Given the description of an element on the screen output the (x, y) to click on. 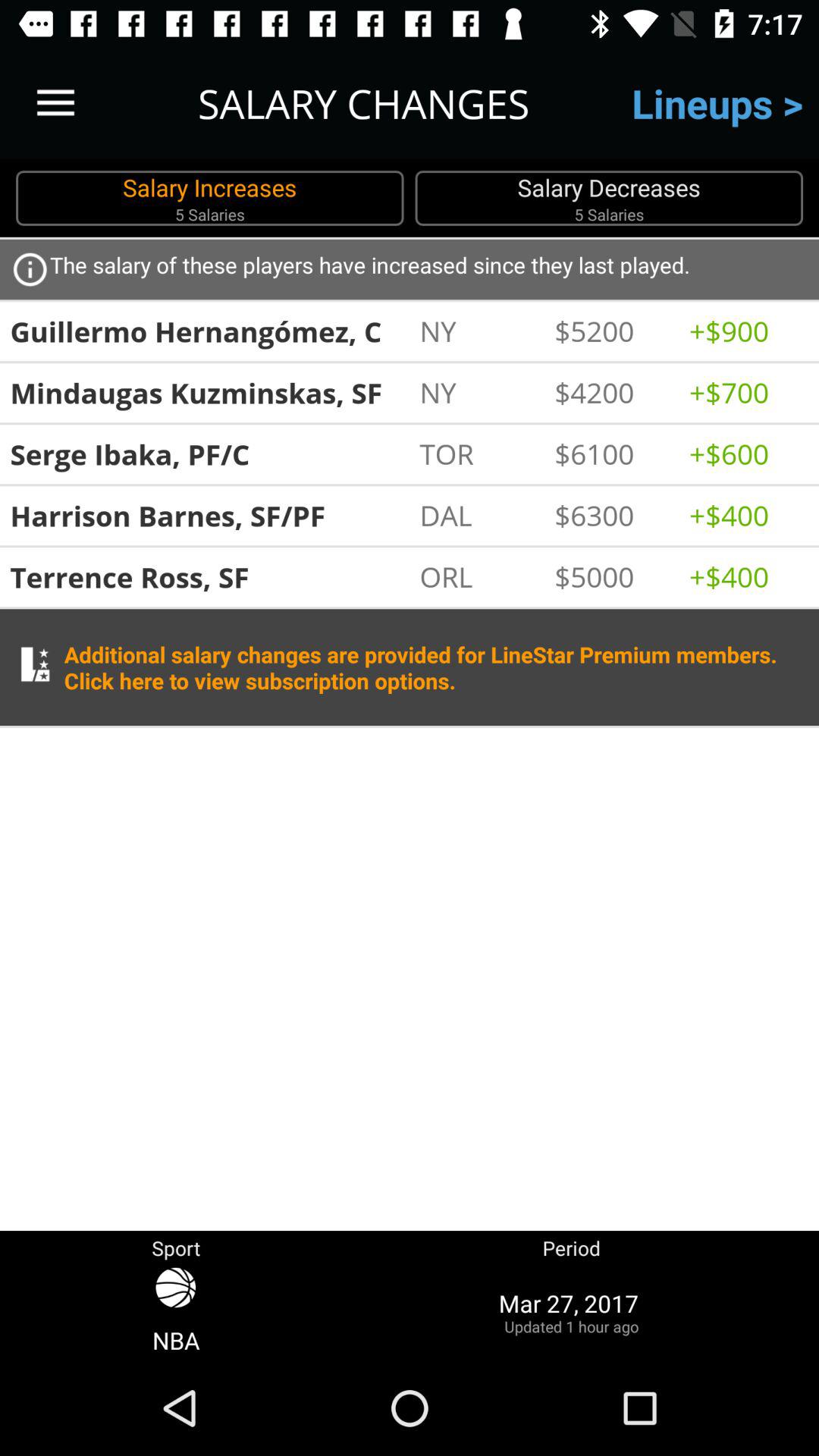
press the icon below the serge ibaka pf icon (209, 515)
